Given the description of an element on the screen output the (x, y) to click on. 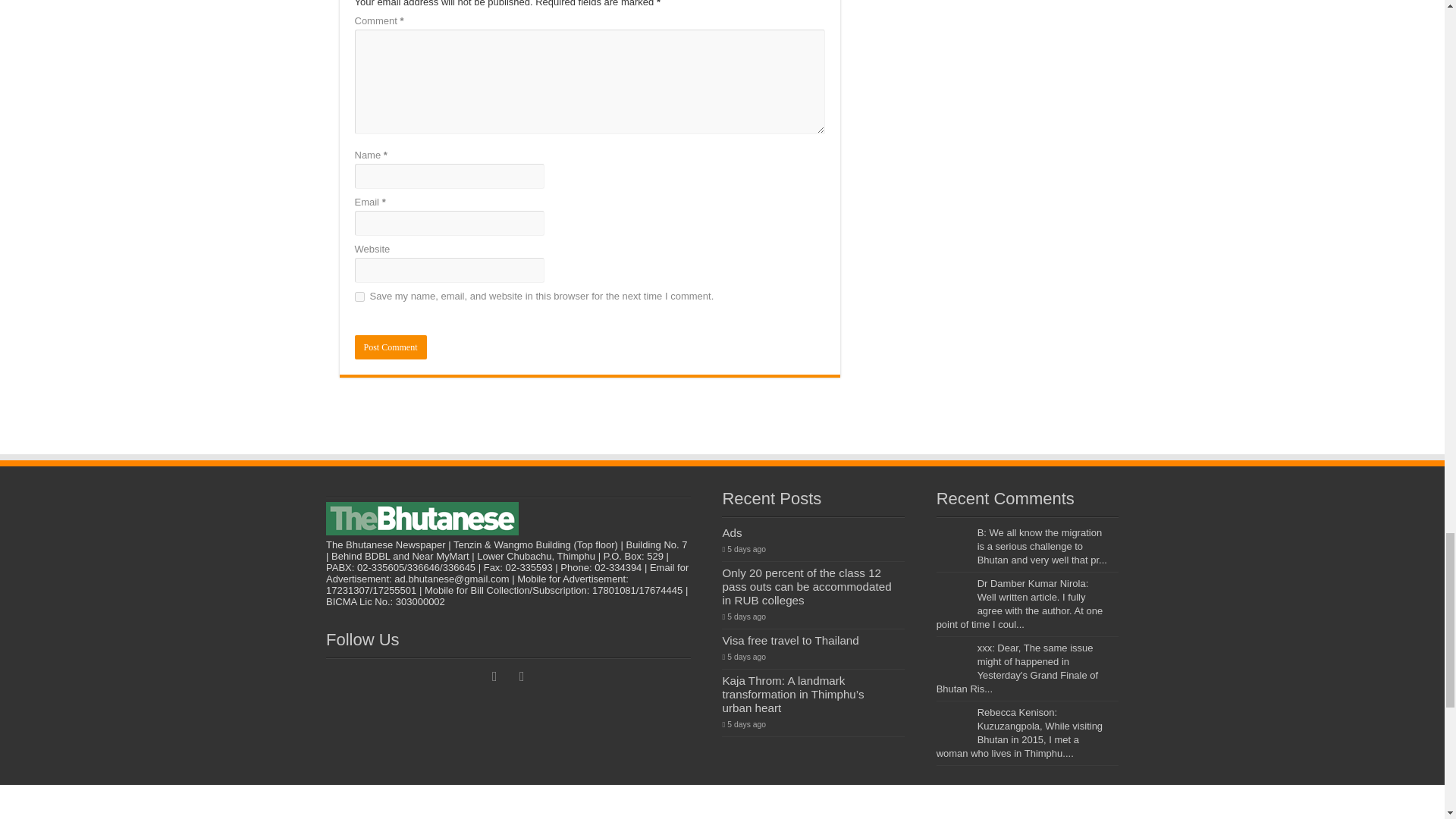
Post Comment (390, 346)
yes (360, 296)
